Given the description of an element on the screen output the (x, y) to click on. 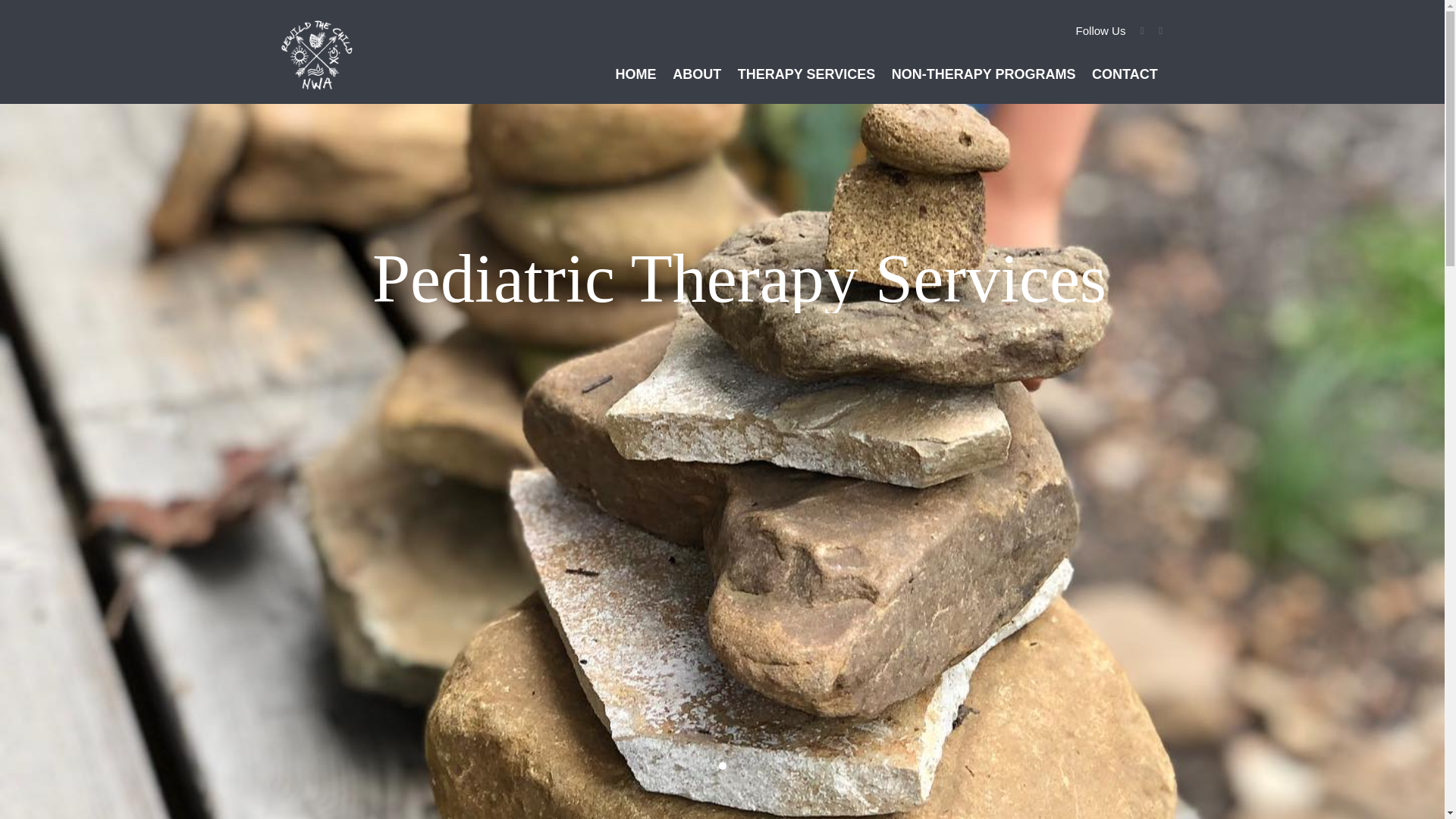
CONTACT (1124, 73)
NON-THERAPY PROGRAMS (983, 73)
HOME (636, 73)
THERAPY SERVICES (806, 73)
ABOUT (696, 73)
